Given the description of an element on the screen output the (x, y) to click on. 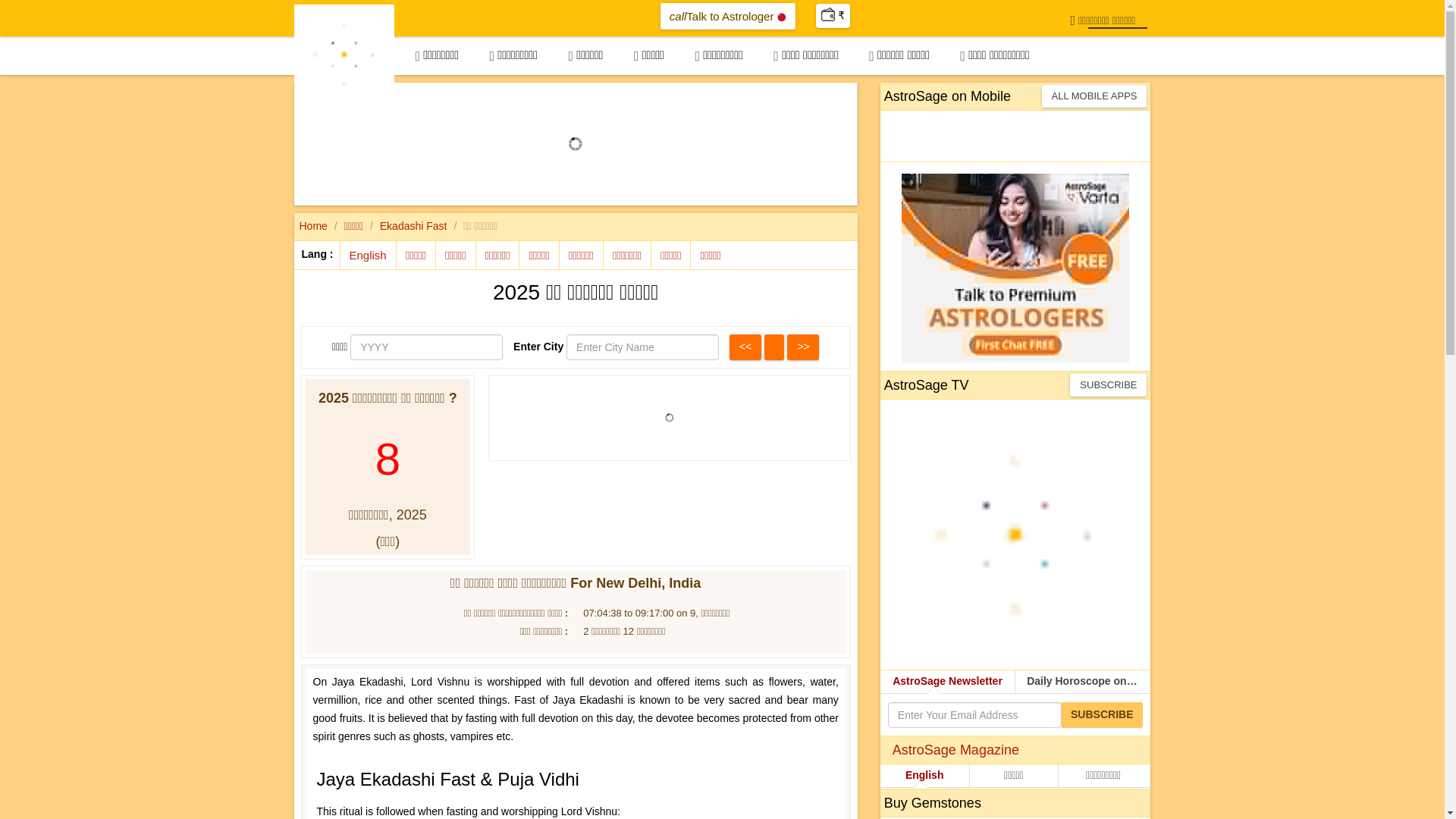
English (367, 254)
AstroSage Panchang (344, 53)
Home (312, 225)
Ekadashi Fast (413, 225)
English (727, 16)
ALL MOBILE APPS (367, 254)
Previous Year (1094, 96)
SUBSCRIBE (745, 347)
Next Year (1108, 384)
